Given the description of an element on the screen output the (x, y) to click on. 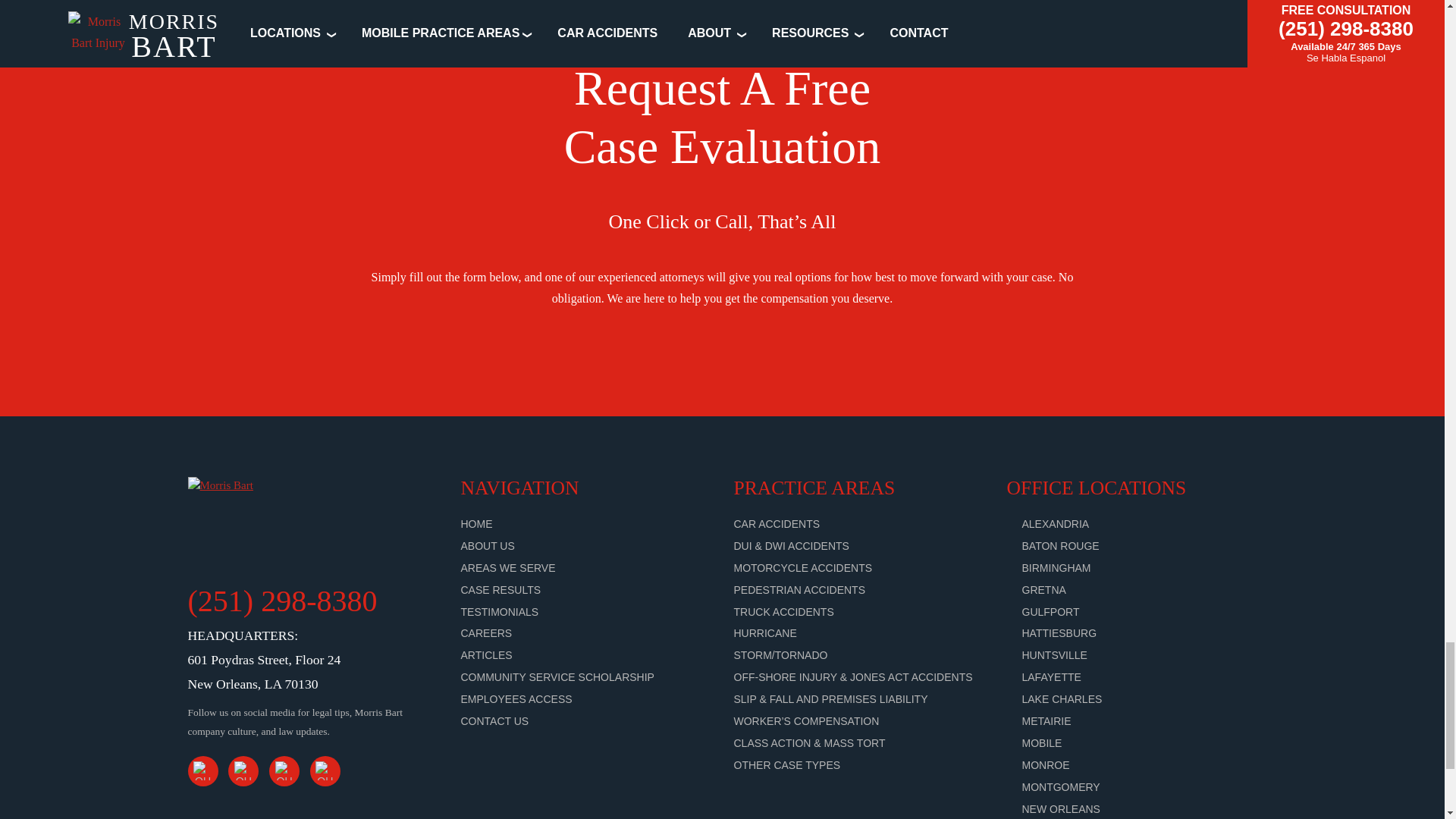
Case results (501, 589)
About us (488, 545)
Testimonials (499, 611)
Areas We Serve (508, 567)
Careers (486, 633)
